Given the description of an element on the screen output the (x, y) to click on. 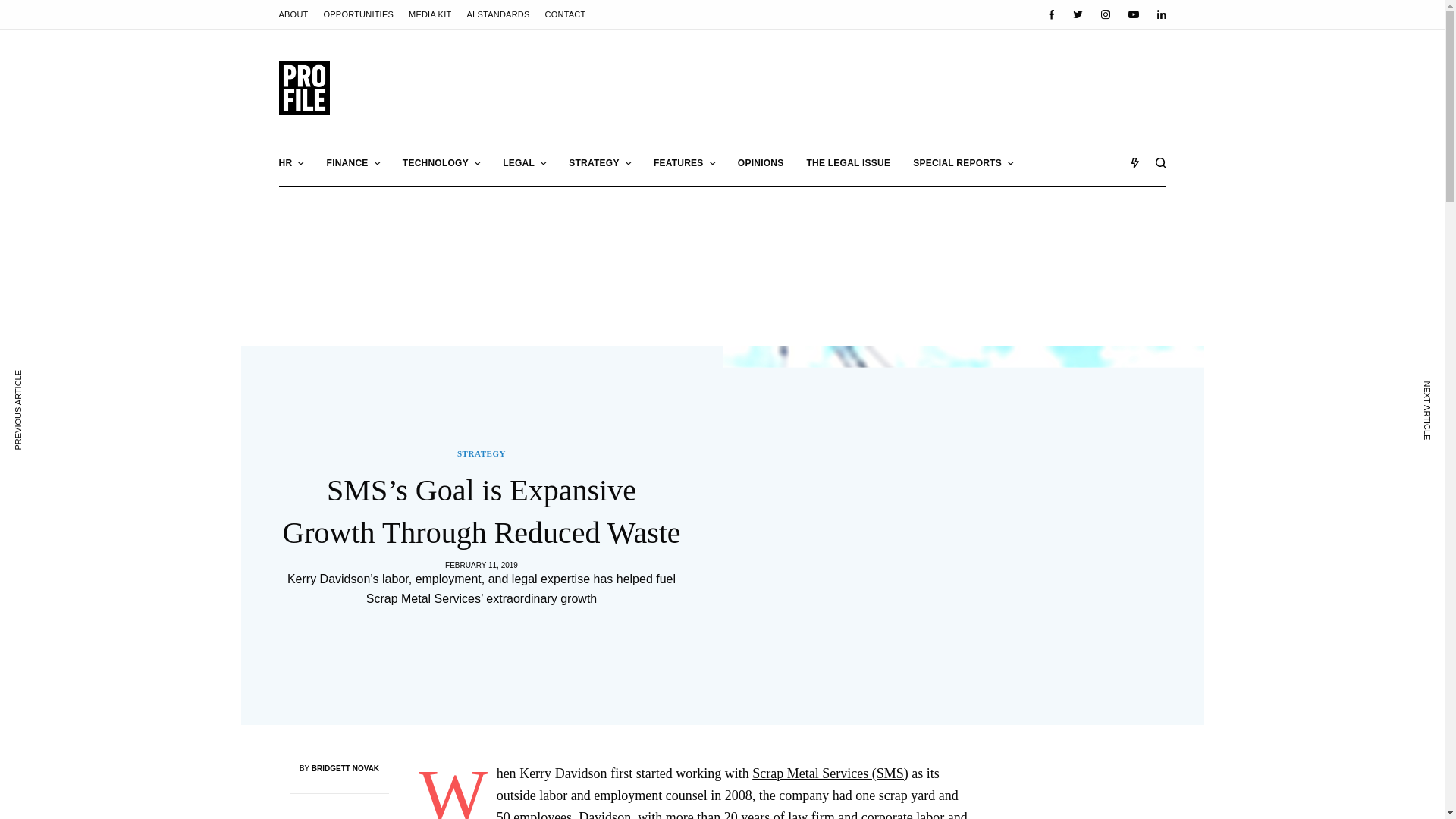
ABOUT (293, 14)
FINANCE (353, 162)
OPPORTUNITIES (358, 14)
STRATEGY (599, 162)
CONTACT (565, 14)
Profile (304, 87)
AI STANDARDS (497, 14)
LEGAL (524, 162)
TECHNOLOGY (441, 162)
MEDIA KIT (430, 14)
FEATURES (683, 162)
